Given the description of an element on the screen output the (x, y) to click on. 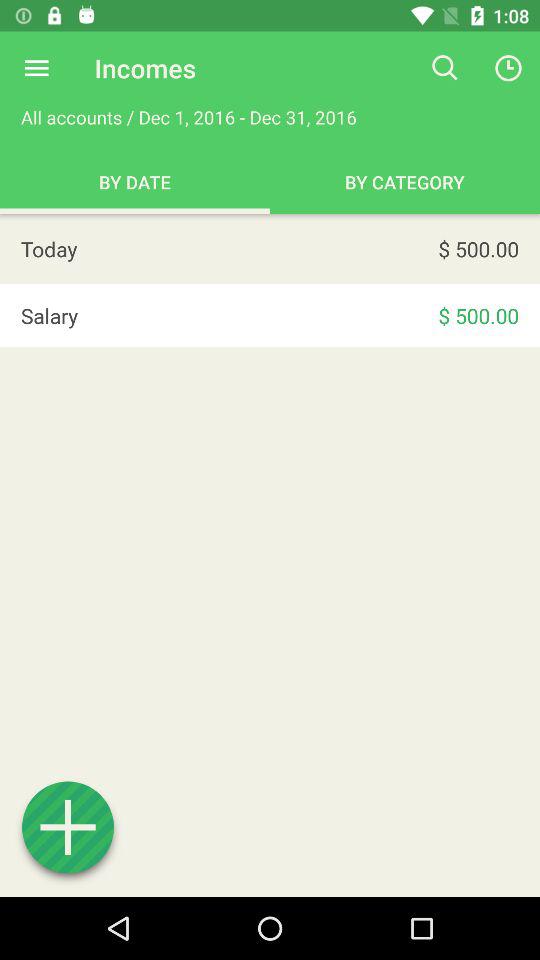
choose the item next to the incomes icon (36, 68)
